Given the description of an element on the screen output the (x, y) to click on. 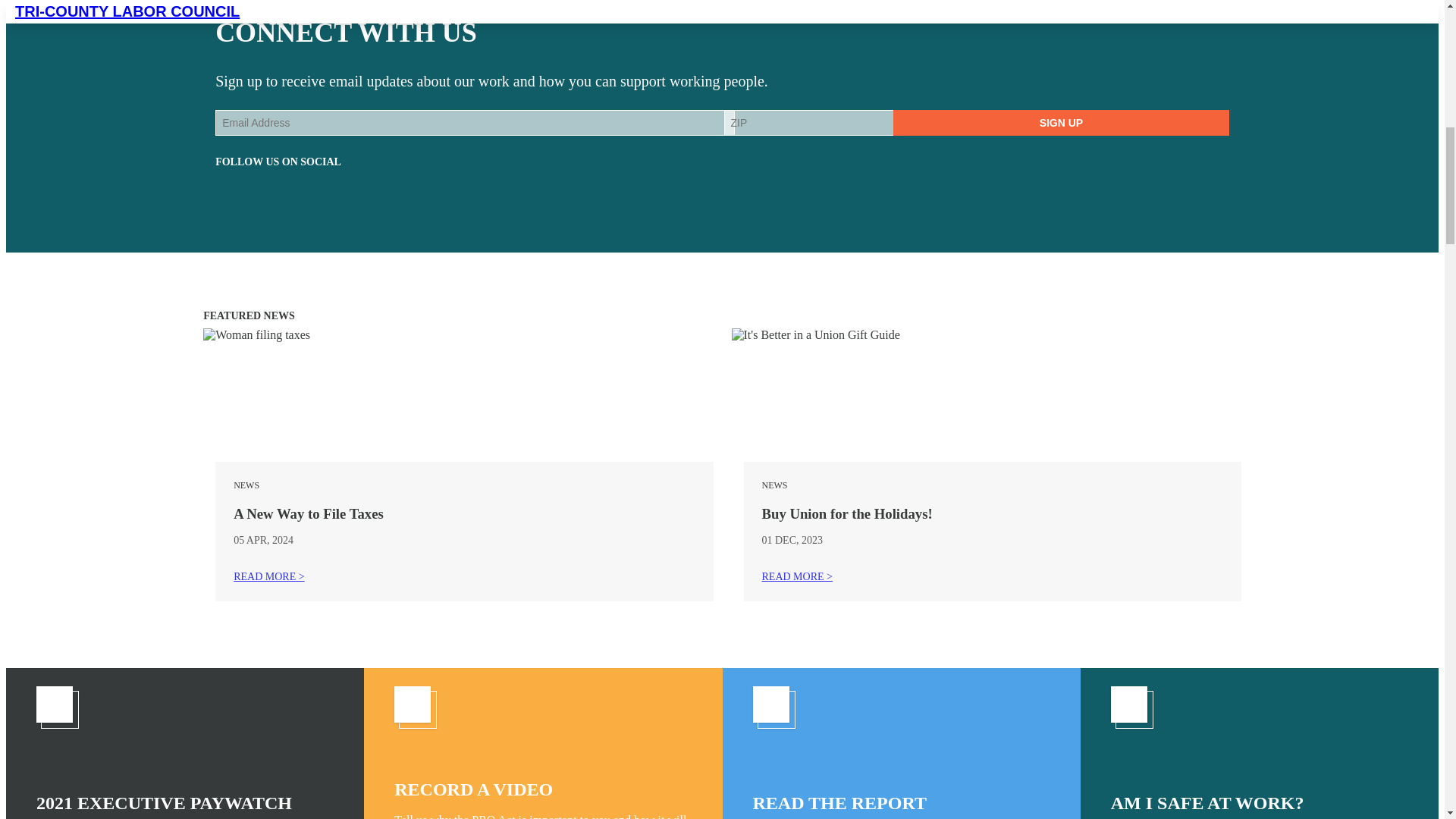
Friday, April 5, 2024 - 15:16 (238, 540)
Friday, December 1, 2023 - 16:04 (798, 540)
2021 Executive Paywatch (184, 743)
Friday, December 1, 2023 - 16:04 (766, 540)
SIGN UP (1060, 122)
Friday, April 5, 2024 - 15:16 (270, 540)
Record a Video (543, 743)
Read the Report (901, 743)
